Given the description of an element on the screen output the (x, y) to click on. 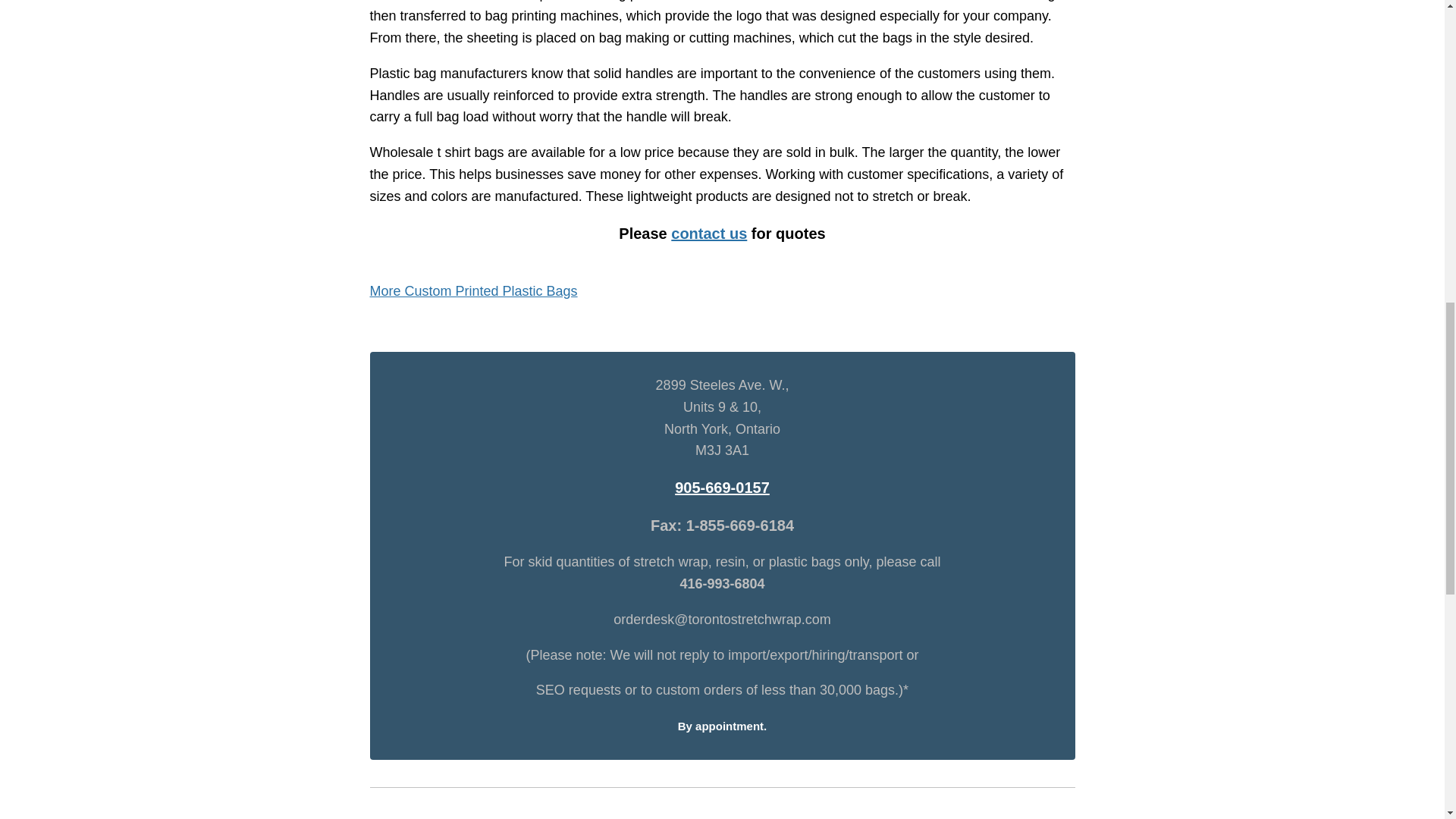
contact us (708, 233)
905-669-0157 (722, 487)
More Custom Printed Plastic Bags (473, 290)
